Given the description of an element on the screen output the (x, y) to click on. 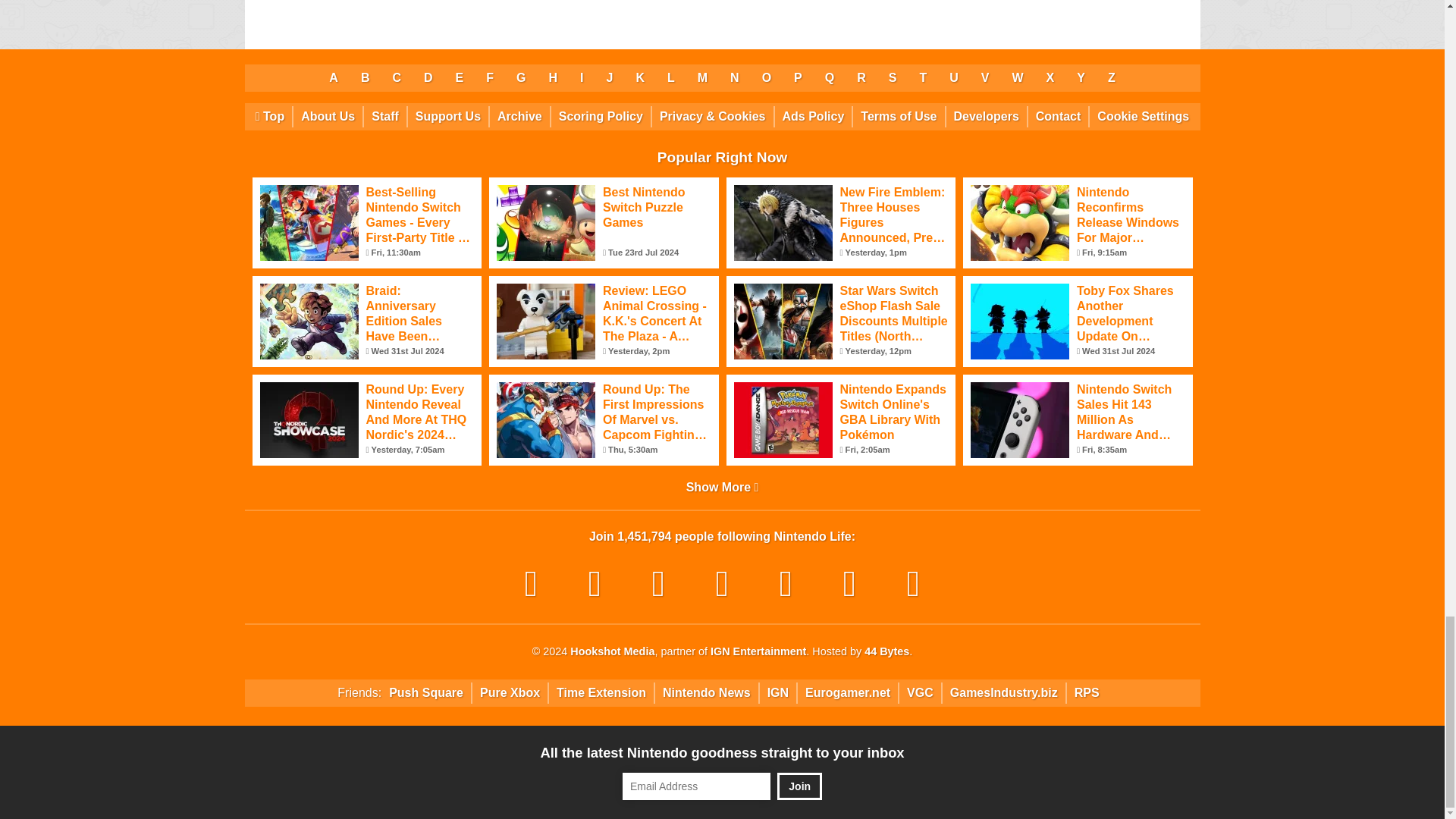
Join (799, 786)
